Given the description of an element on the screen output the (x, y) to click on. 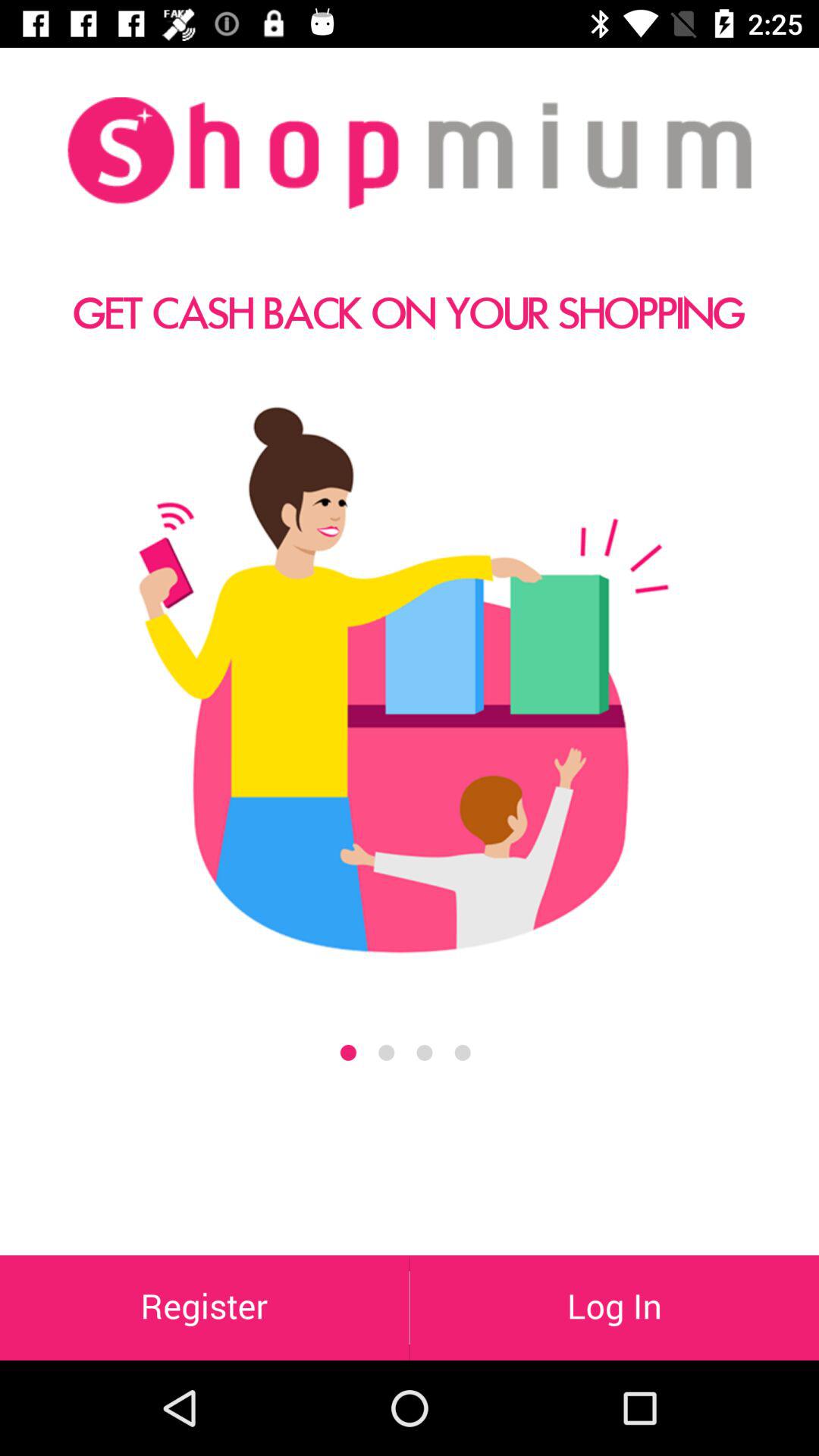
tap the register icon (204, 1307)
